Given the description of an element on the screen output the (x, y) to click on. 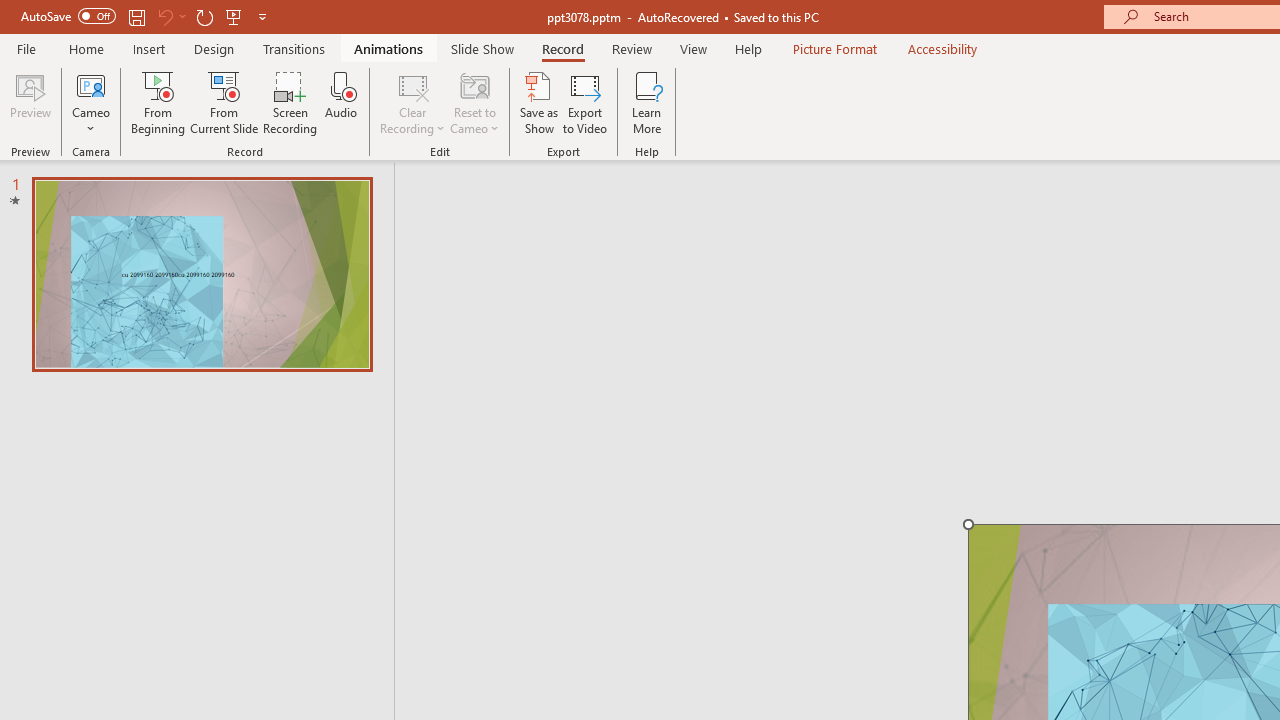
Picture Format (834, 48)
